Given the description of an element on the screen output the (x, y) to click on. 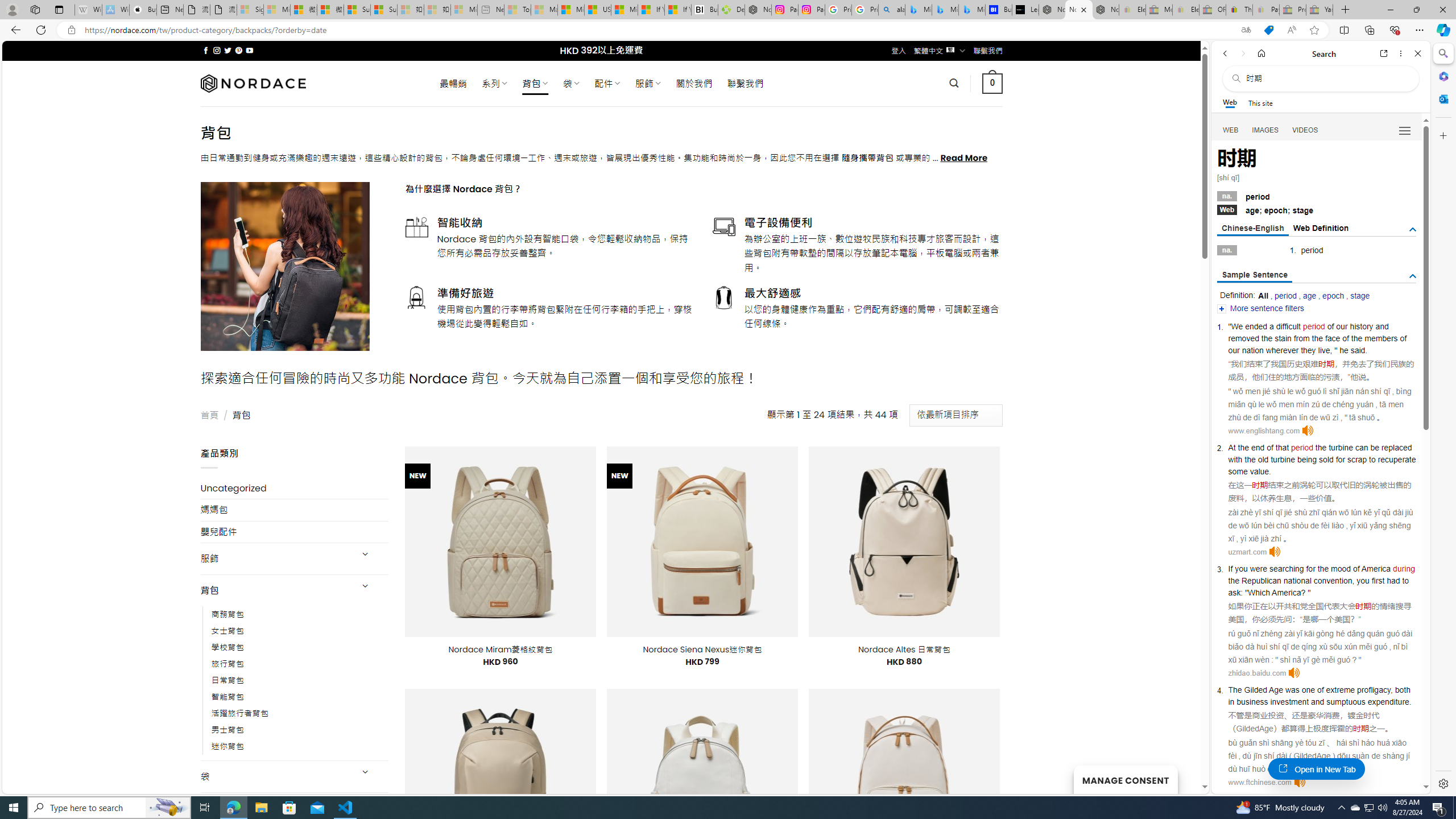
epoch (1332, 295)
Microsoft Bing Travel - Flights from Hong Kong to Bangkok (917, 9)
Class: b_serphb (1404, 130)
New tab - Sleeping (491, 9)
national (1296, 580)
This site scope (1259, 102)
age (1309, 295)
